Given the description of an element on the screen output the (x, y) to click on. 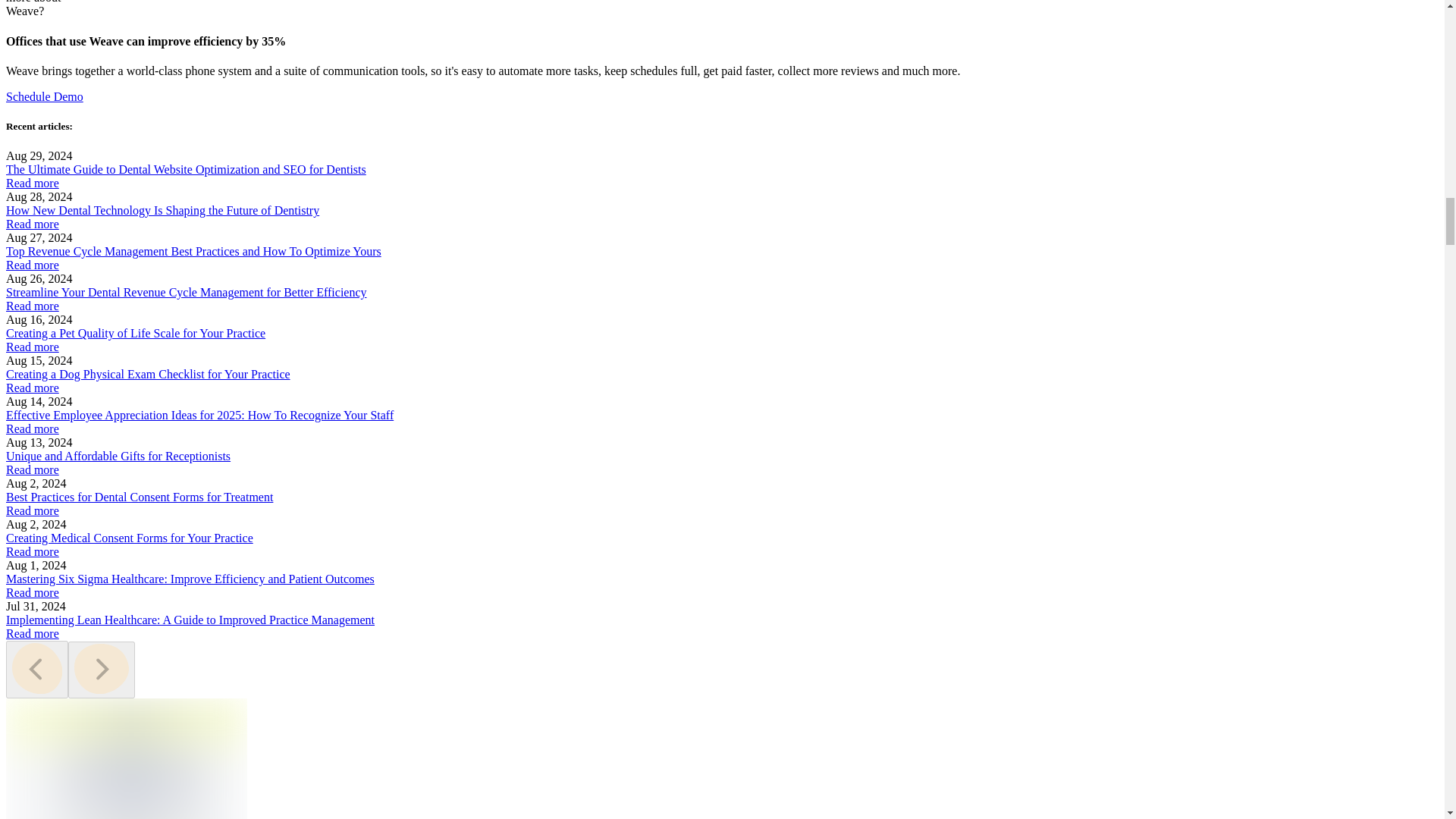
Read more (32, 428)
How New Dental Technology Is Shaping the Future of Dentistry (161, 210)
Schedule Demo (43, 96)
Read more (32, 305)
Read more (32, 387)
Creating a Dog Physical Exam Checklist for Your Practice (147, 373)
